Given the description of an element on the screen output the (x, y) to click on. 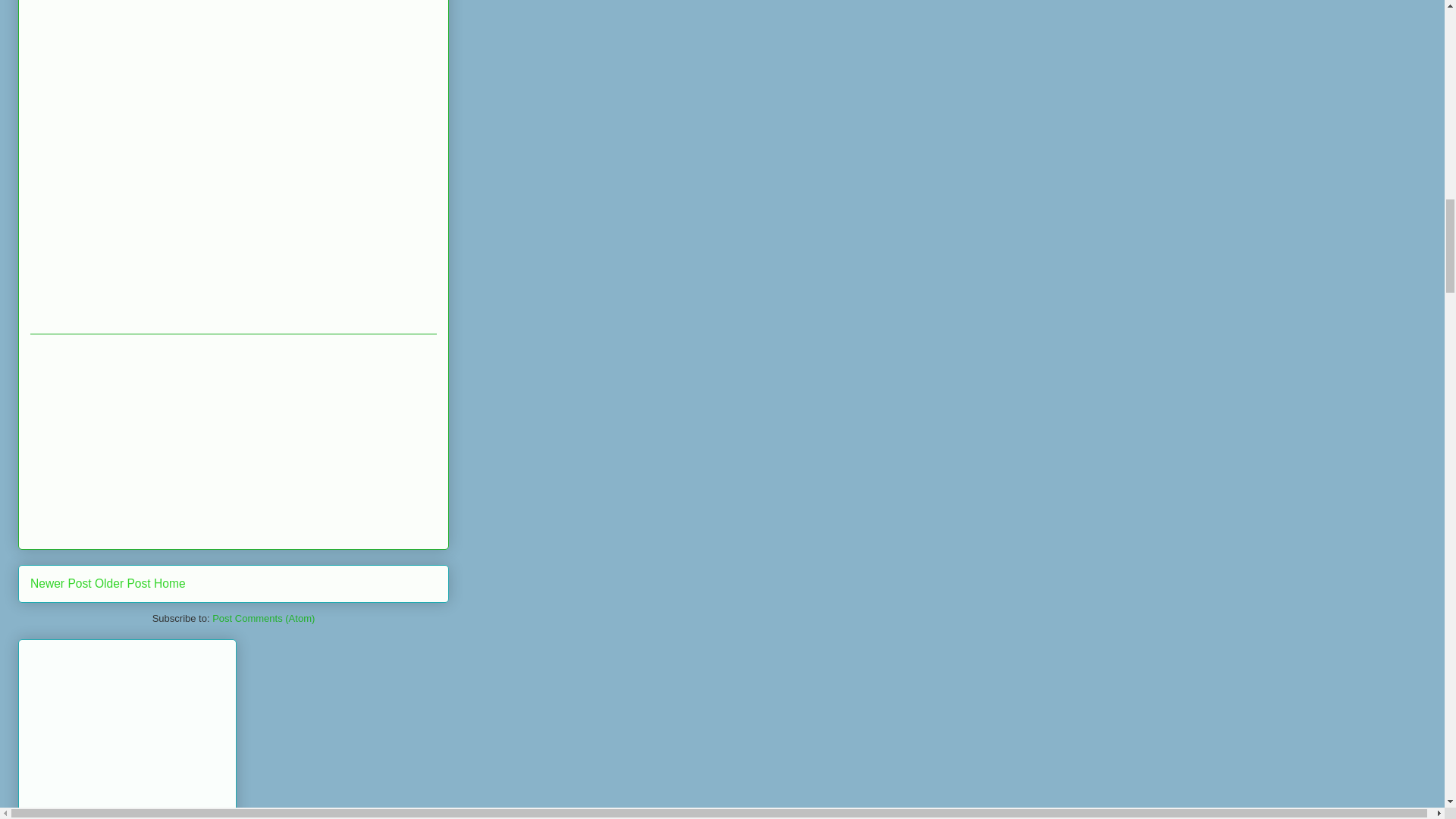
Older Post (122, 583)
Newer Post (60, 583)
Newer Post (60, 583)
Older Post (122, 583)
Home (170, 583)
Advertisement (127, 732)
Advertisement (143, 440)
